Given the description of an element on the screen output the (x, y) to click on. 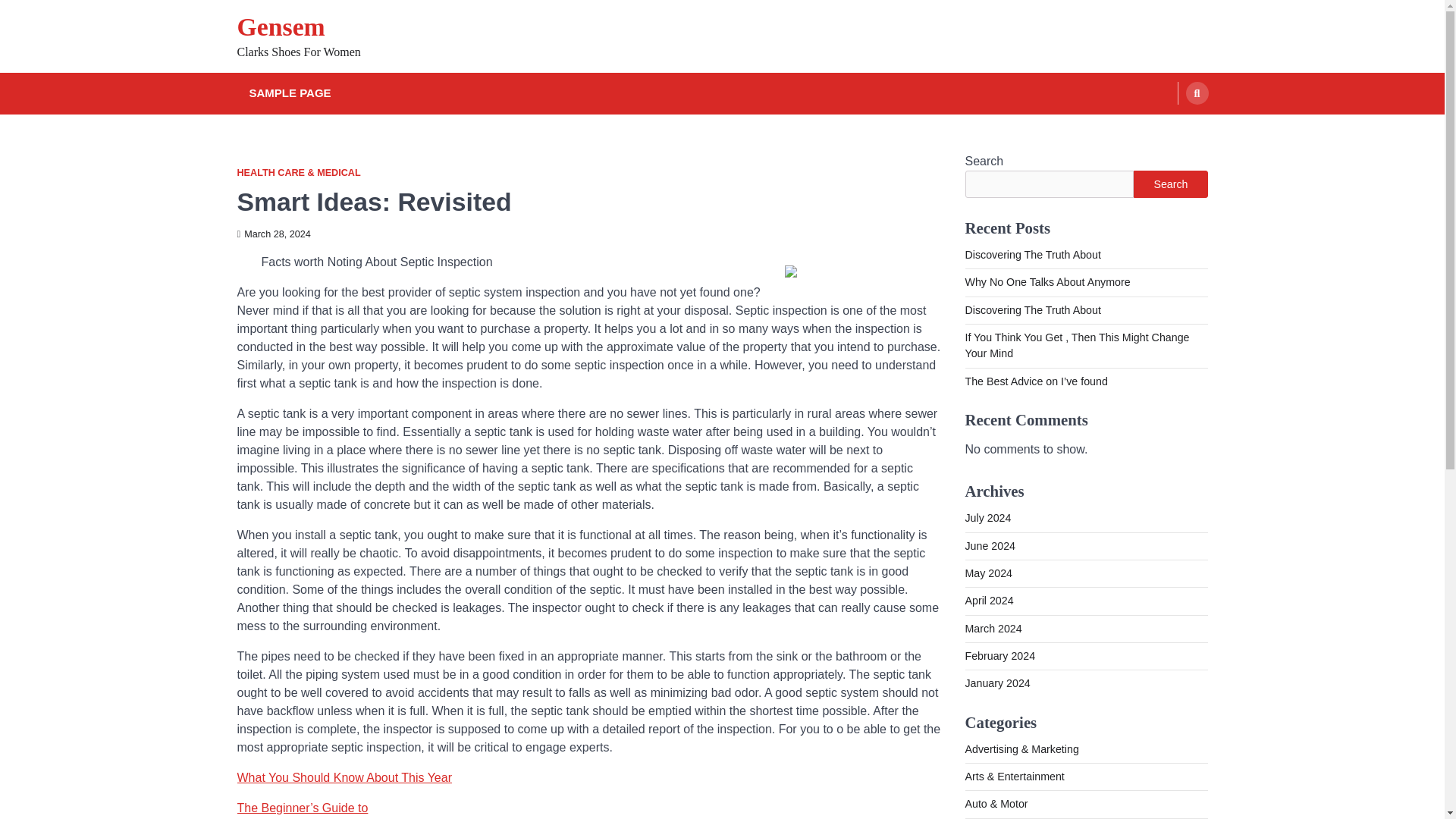
Discovering The Truth About (1031, 254)
April 2024 (988, 600)
SAMPLE PAGE (289, 93)
What You Should Know About This Year (343, 777)
March 2024 (992, 628)
February 2024 (999, 655)
Search (1170, 184)
June 2024 (988, 545)
March 28, 2024 (272, 234)
Discovering The Truth About (1031, 309)
Why No One Talks About Anymore (1046, 282)
Gensem (279, 26)
If You Think You Get , Then This Might Change Your Mind (1076, 345)
Search (1168, 128)
July 2024 (986, 517)
